Given the description of an element on the screen output the (x, y) to click on. 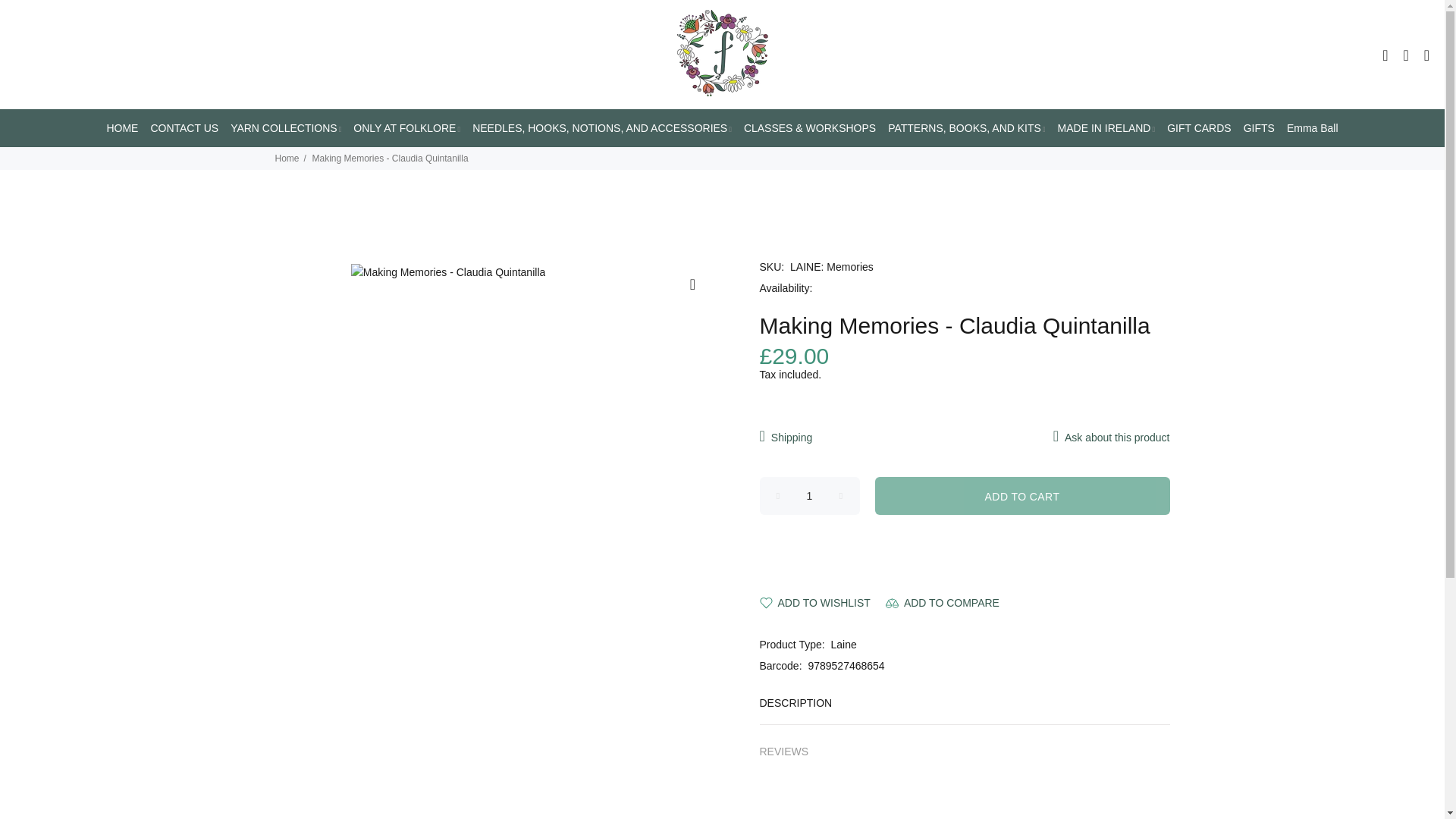
1 (810, 495)
